Given the description of an element on the screen output the (x, y) to click on. 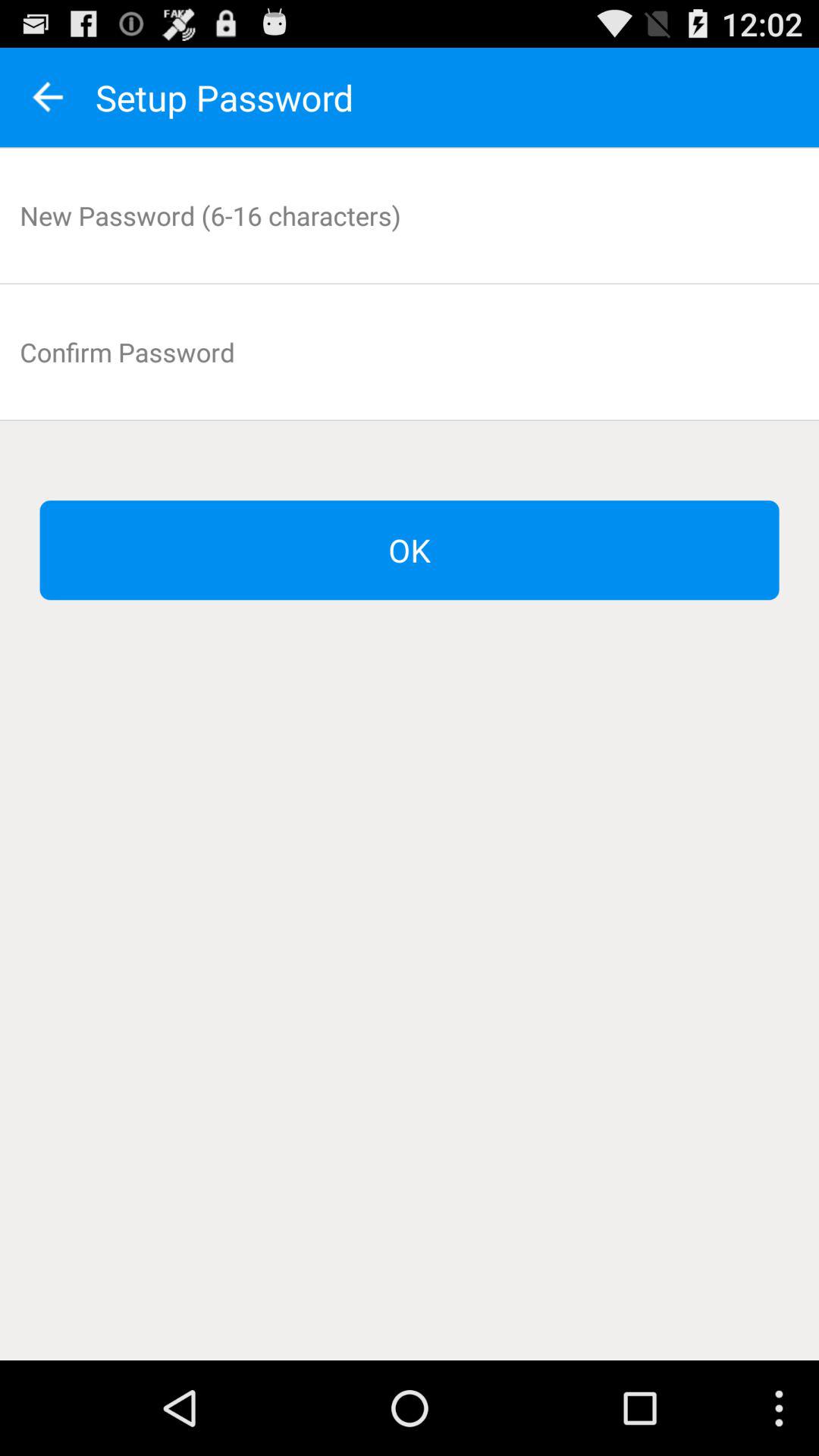
open confirm password box (409, 351)
